Given the description of an element on the screen output the (x, y) to click on. 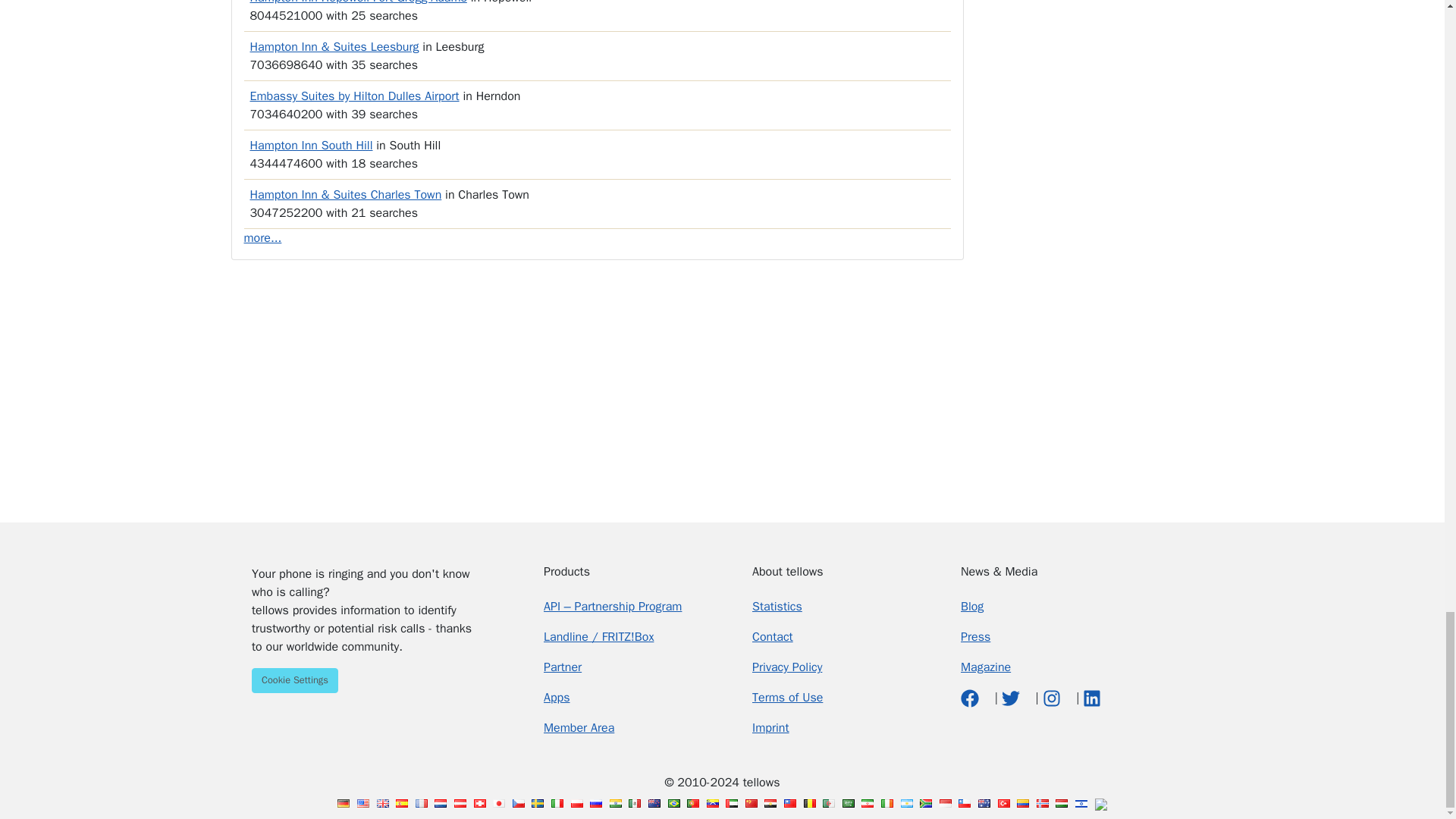
Magazin (985, 667)
tellows Germany (343, 803)
tellows Spain (401, 803)
tellows Switzerland (480, 803)
Blog (972, 606)
Presse (975, 636)
tellows France (421, 803)
Facebook (971, 697)
tellows Austria (459, 803)
tellows Great Britain (382, 803)
tellows Japan (499, 803)
tellows USA (362, 803)
tellows Netherlands (439, 803)
Instagram (1053, 697)
LinkedIn (1091, 697)
